Given the description of an element on the screen output the (x, y) to click on. 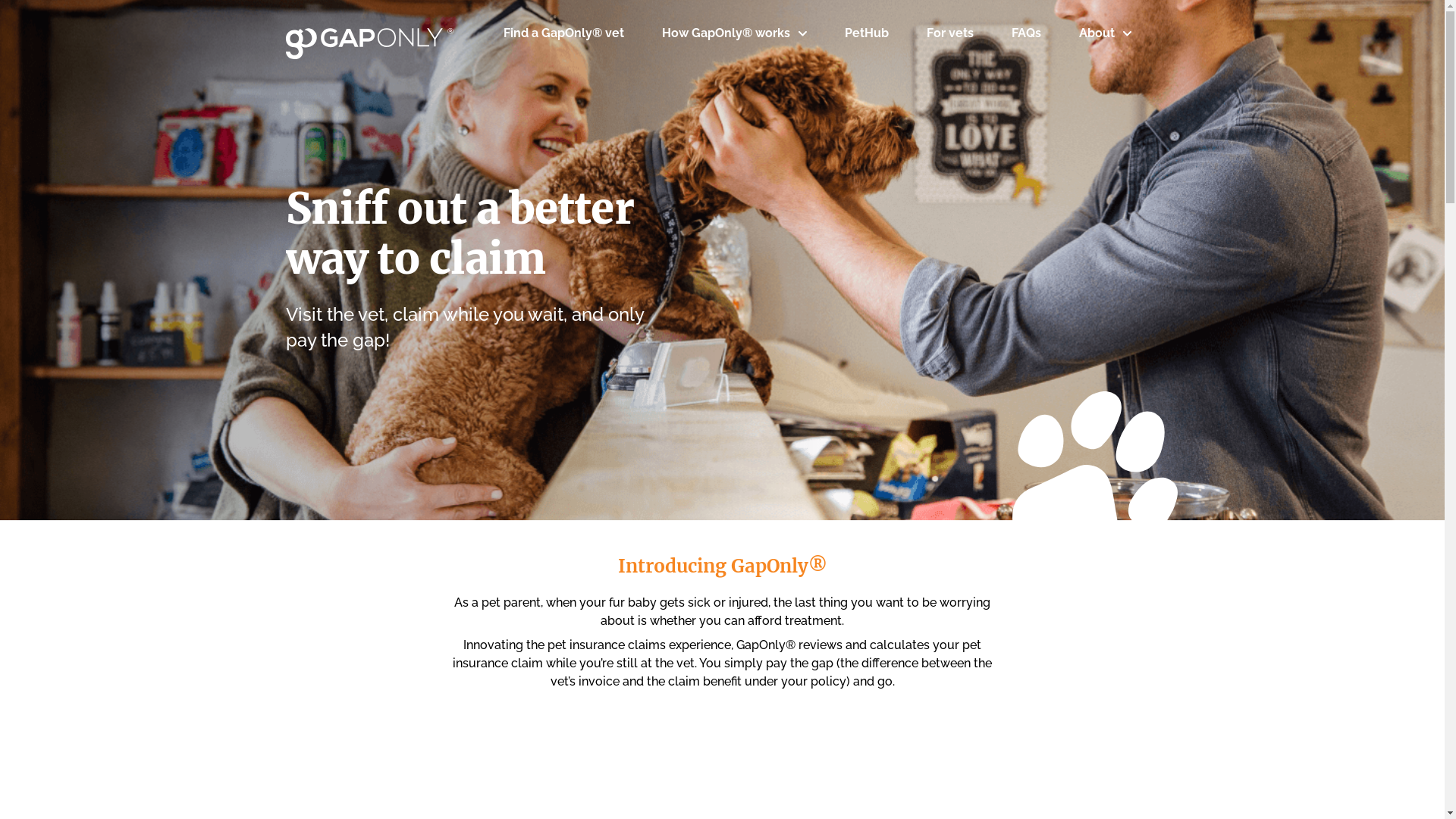
For vets Element type: text (949, 32)
FAQs Element type: text (1026, 32)
About Element type: text (1104, 32)
PetHub Element type: text (866, 32)
